Given the description of an element on the screen output the (x, y) to click on. 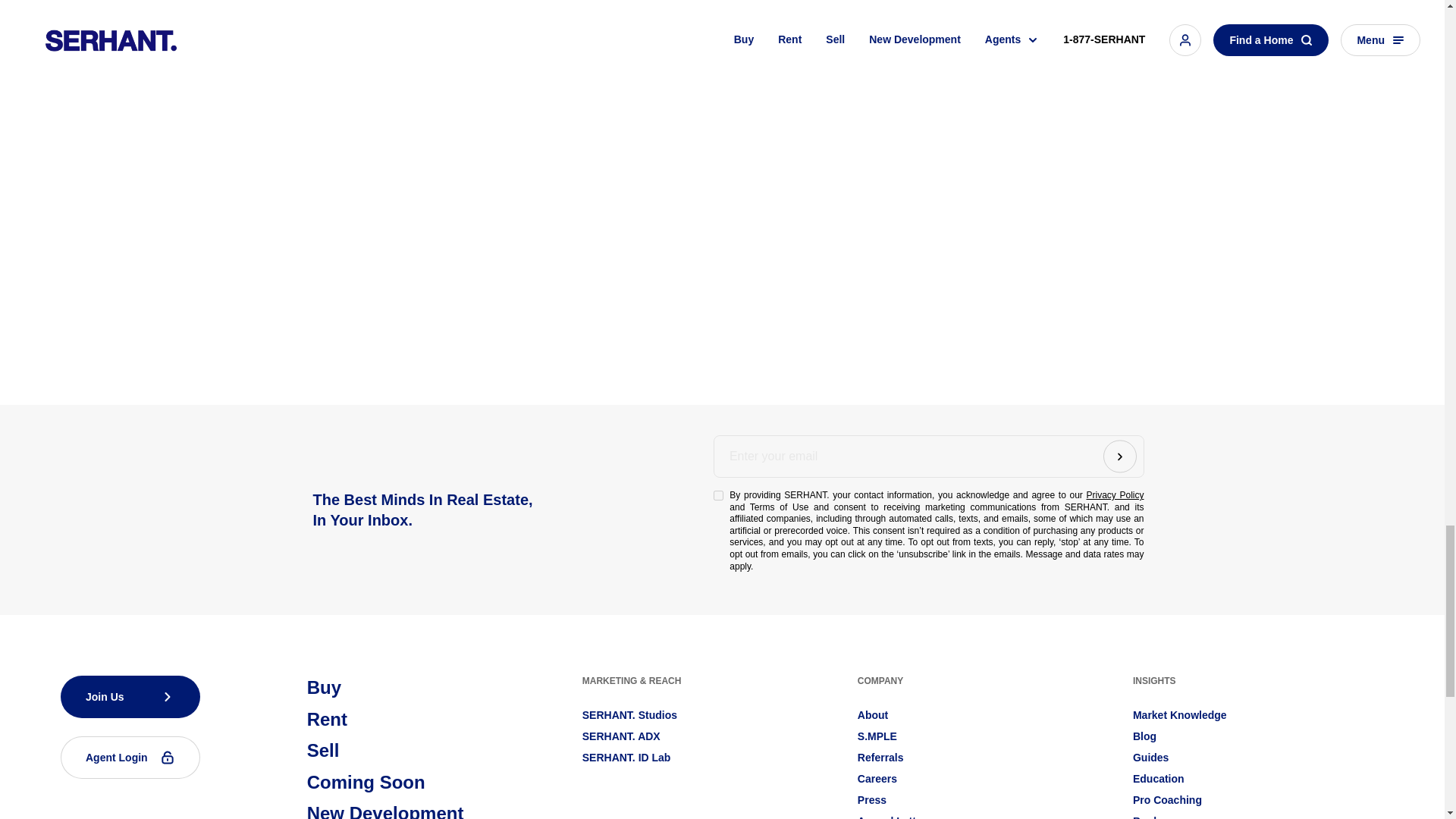
SERHANT. S.MPLE (876, 735)
on (718, 495)
Sell It Pro Coaching (1167, 799)
